Given the description of an element on the screen output the (x, y) to click on. 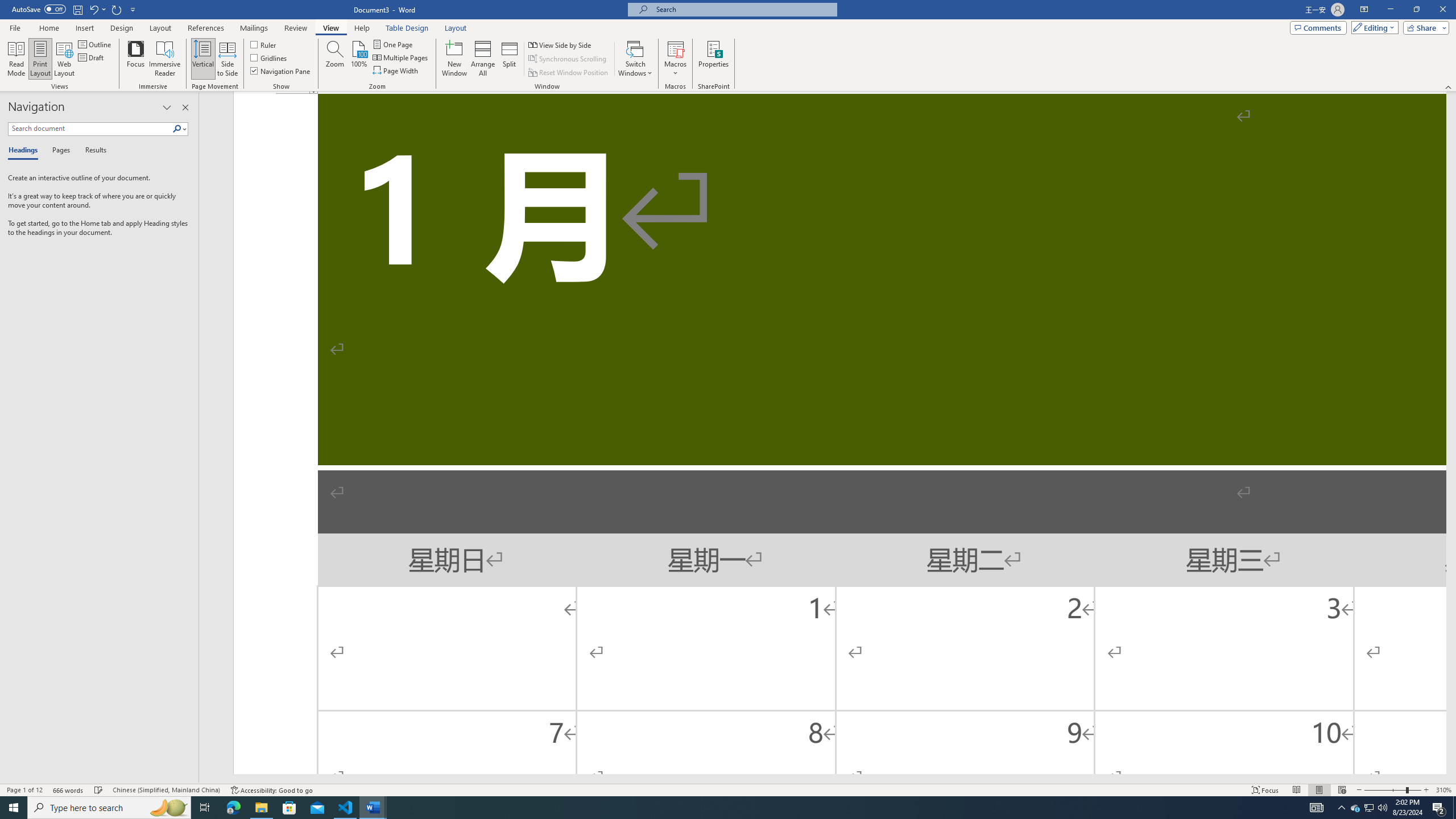
Share (1423, 27)
Review (295, 28)
View (330, 28)
AutoSave (38, 9)
Class: NetUIImage (177, 128)
New Window (454, 58)
References (205, 28)
Collapse the Ribbon (1448, 86)
Pages (59, 150)
Synchronous Scrolling (568, 58)
Focus (135, 58)
Layout (455, 28)
